Given the description of an element on the screen output the (x, y) to click on. 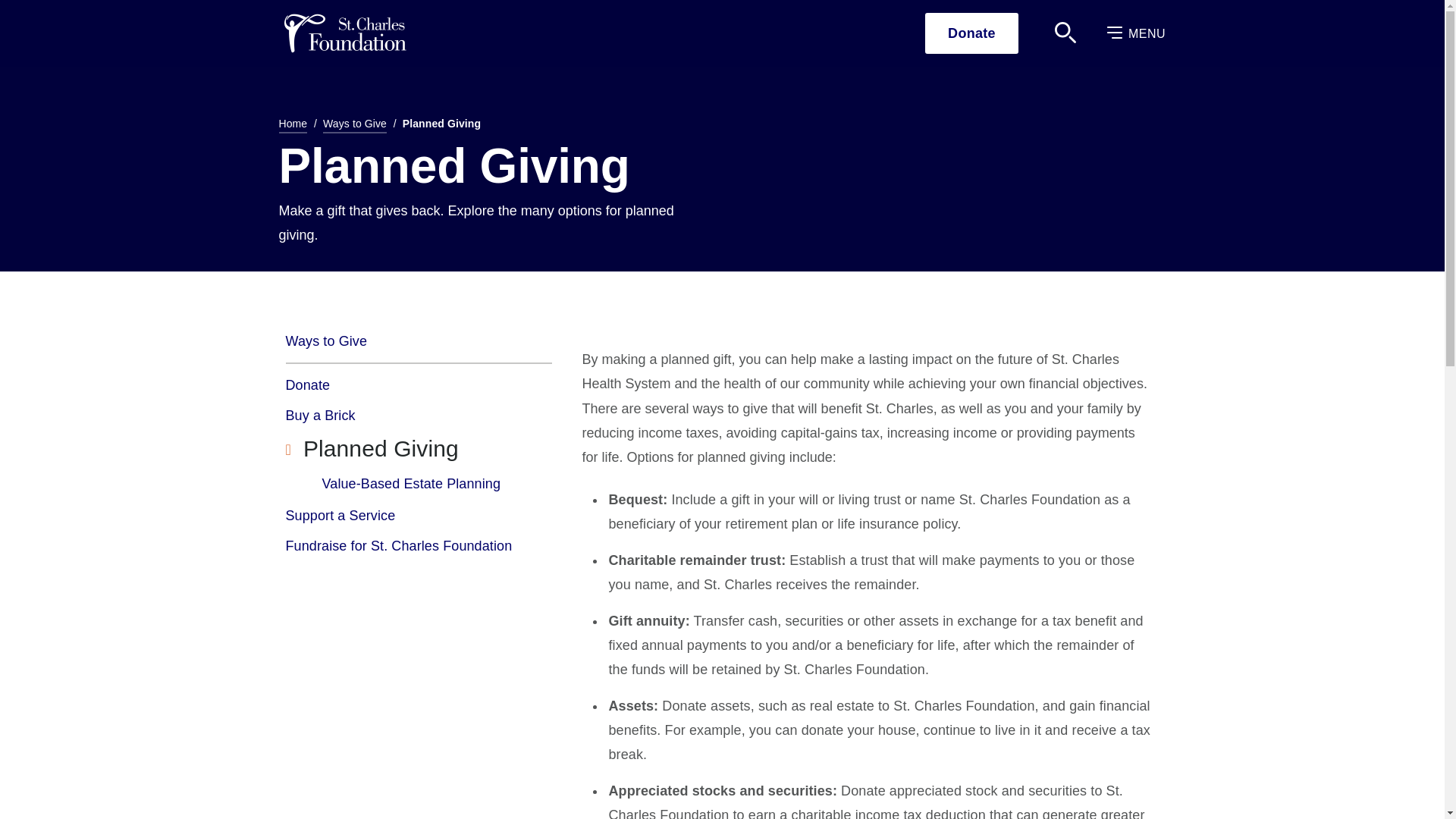
Donate (418, 385)
Support a Service (418, 515)
Planned Giving (418, 448)
Home (293, 125)
Ways to Give (355, 125)
Value-Based Estate Planning (410, 483)
Donate (970, 33)
Support a Service (418, 515)
Fundraise for St. Charles Foundation (418, 545)
St. Charles Health System (344, 33)
MENU (1136, 33)
Donate (418, 385)
Ways to Give (418, 347)
Buy a Brick (418, 415)
Value-Based Estate Planning (410, 483)
